Given the description of an element on the screen output the (x, y) to click on. 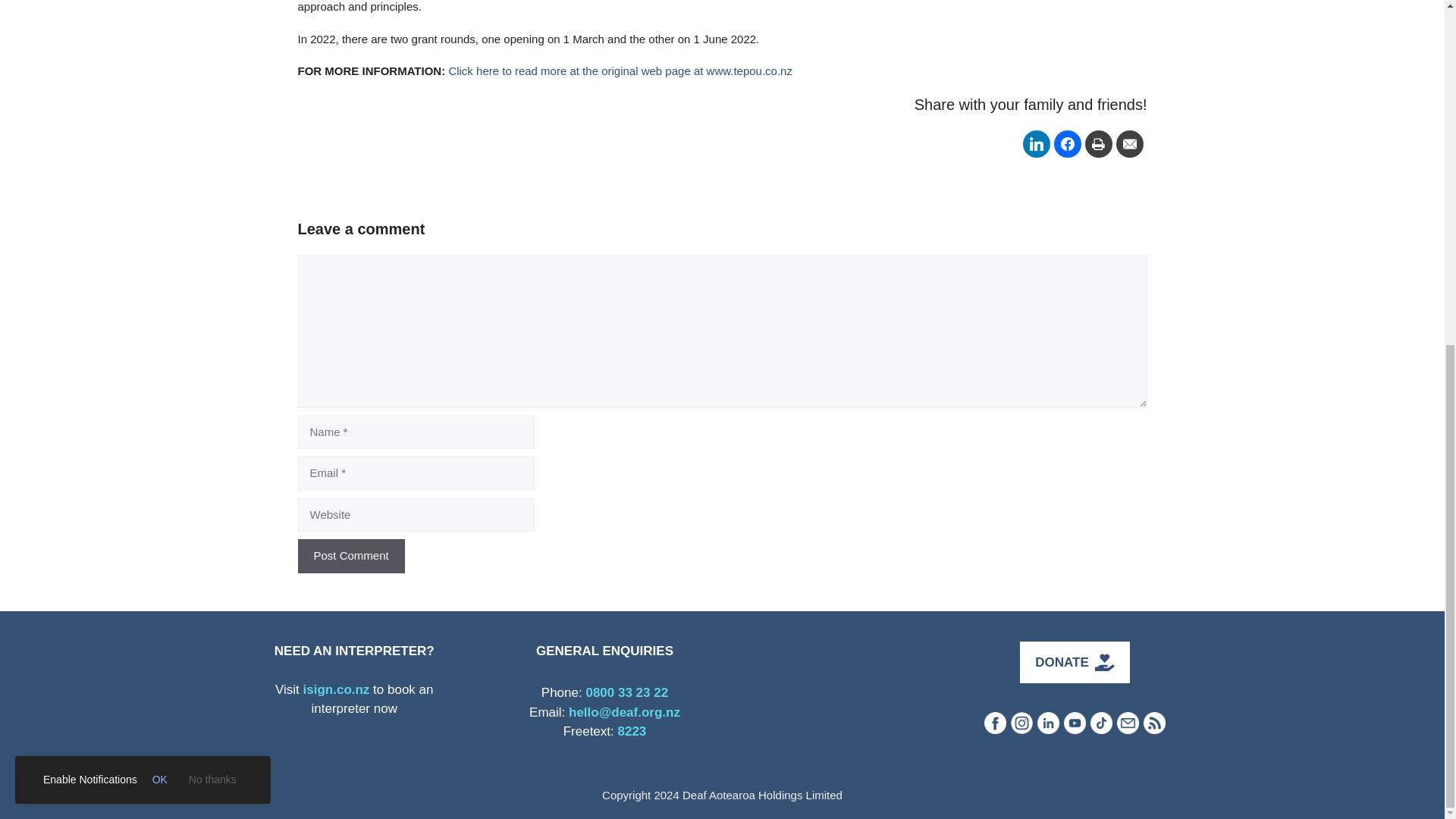
Share on Email (1129, 144)
Post Comment (350, 555)
Share on LinkedIn (1035, 144)
Share on Print (1098, 144)
Share on Facebook (1067, 144)
